Given the description of an element on the screen output the (x, y) to click on. 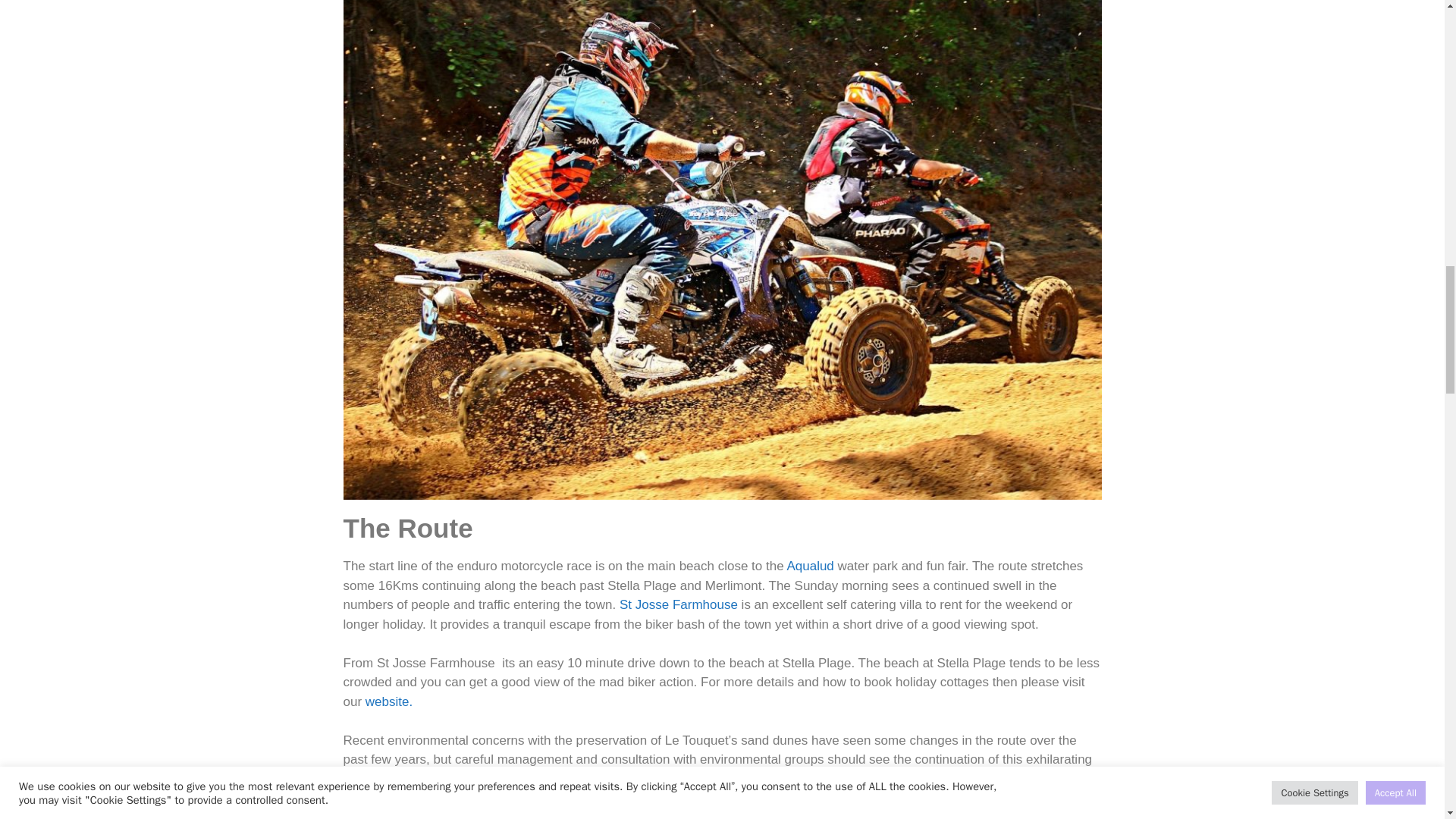
website. (388, 701)
lud (825, 565)
St Josse Farmhouse (679, 604)
Aqua (801, 565)
